Given the description of an element on the screen output the (x, y) to click on. 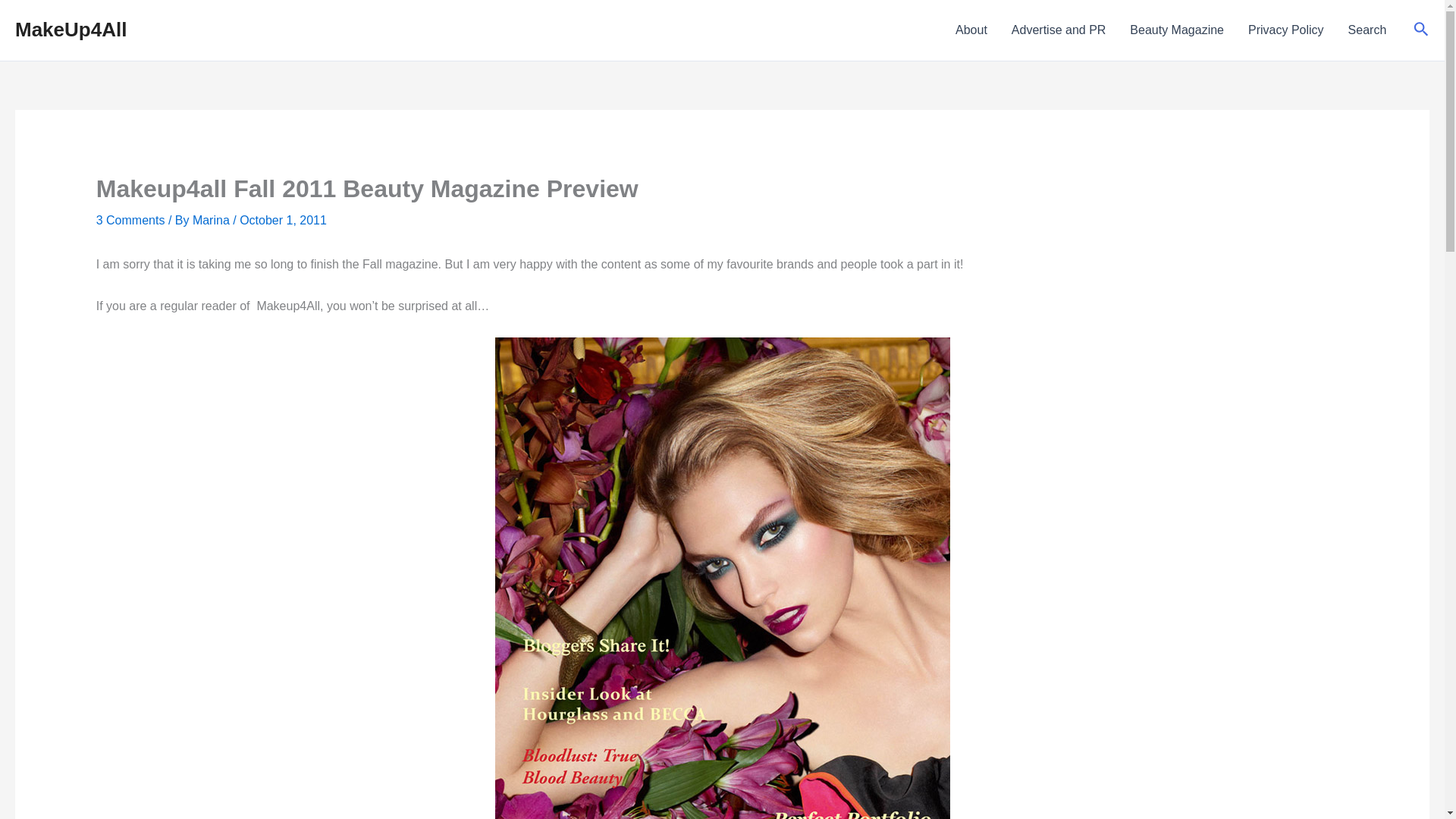
Beauty Magazine (1177, 30)
Advertise and PR (1058, 30)
3 Comments (130, 219)
About (970, 30)
Marina (212, 219)
MakeUp4All (70, 29)
Search (1367, 30)
Privacy Policy (1286, 30)
View all posts by Marina (212, 219)
